Given the description of an element on the screen output the (x, y) to click on. 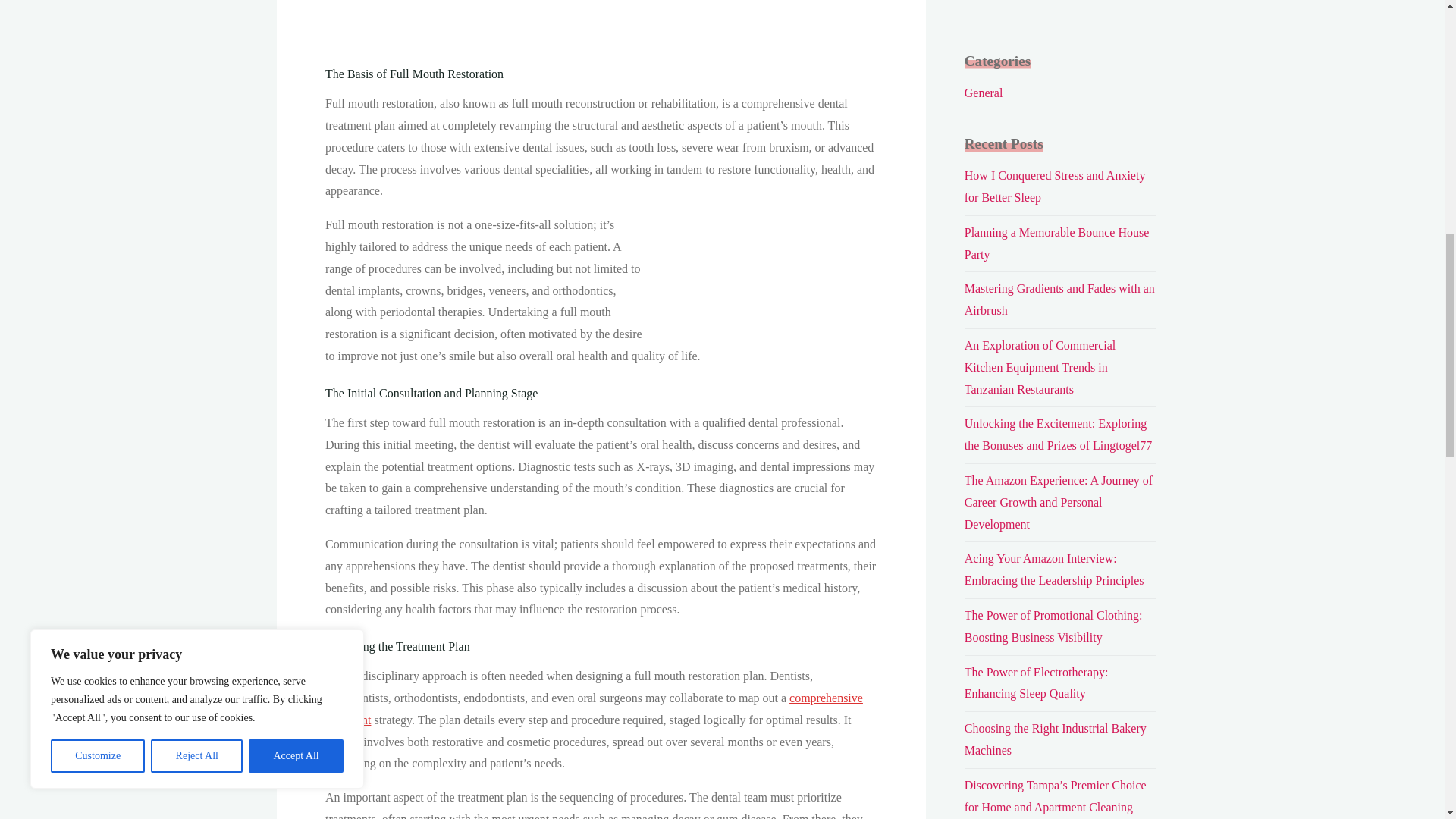
General (983, 92)
Mastering Gradients and Fades with an Airbrush (1058, 298)
comprehensive treatment (592, 708)
Planning a Memorable Bounce House Party (1056, 243)
How I Conquered Stress and Anxiety for Better Sleep (1054, 185)
